Given the description of an element on the screen output the (x, y) to click on. 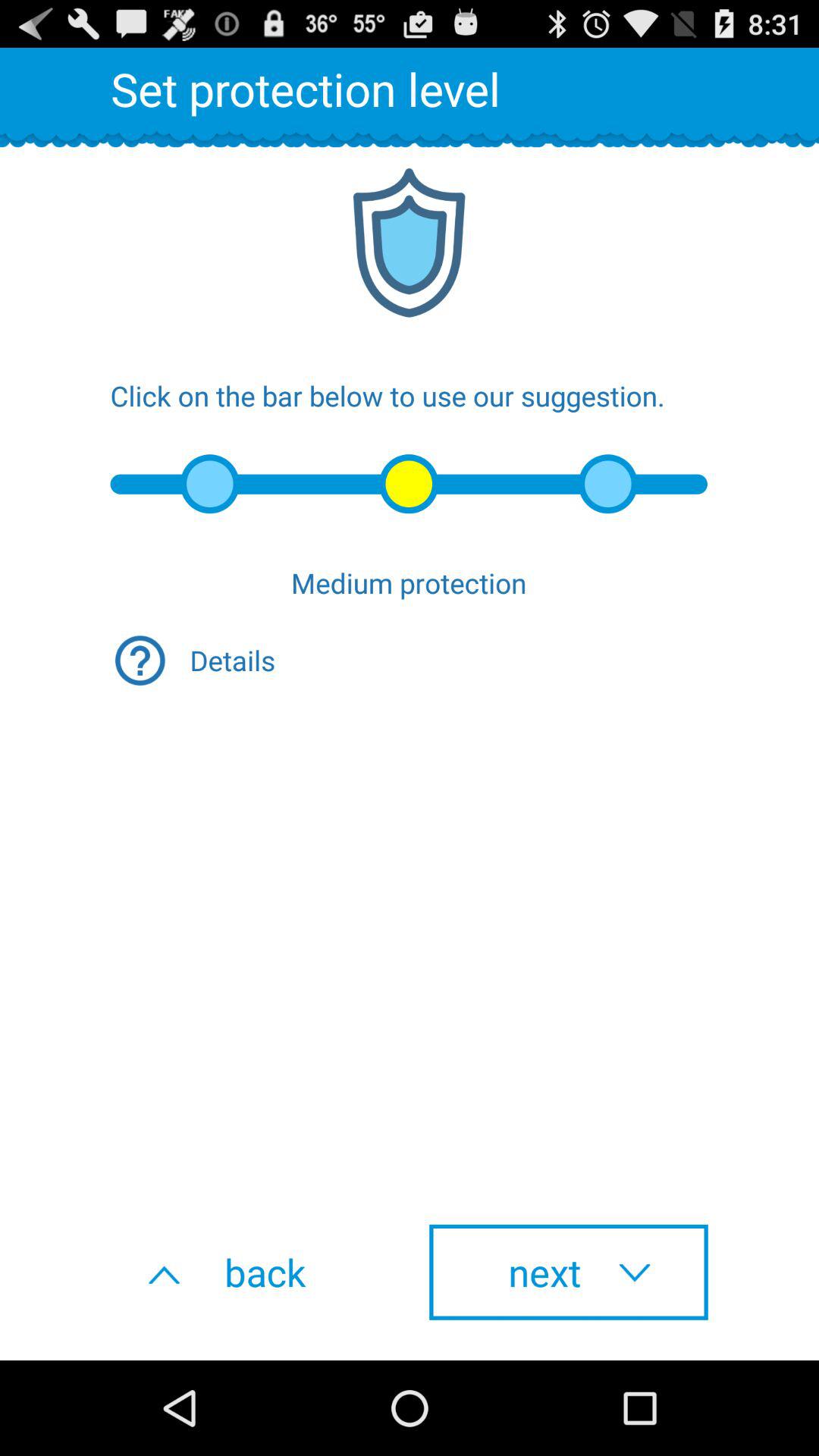
turn off icon to the left of next icon (249, 1272)
